Given the description of an element on the screen output the (x, y) to click on. 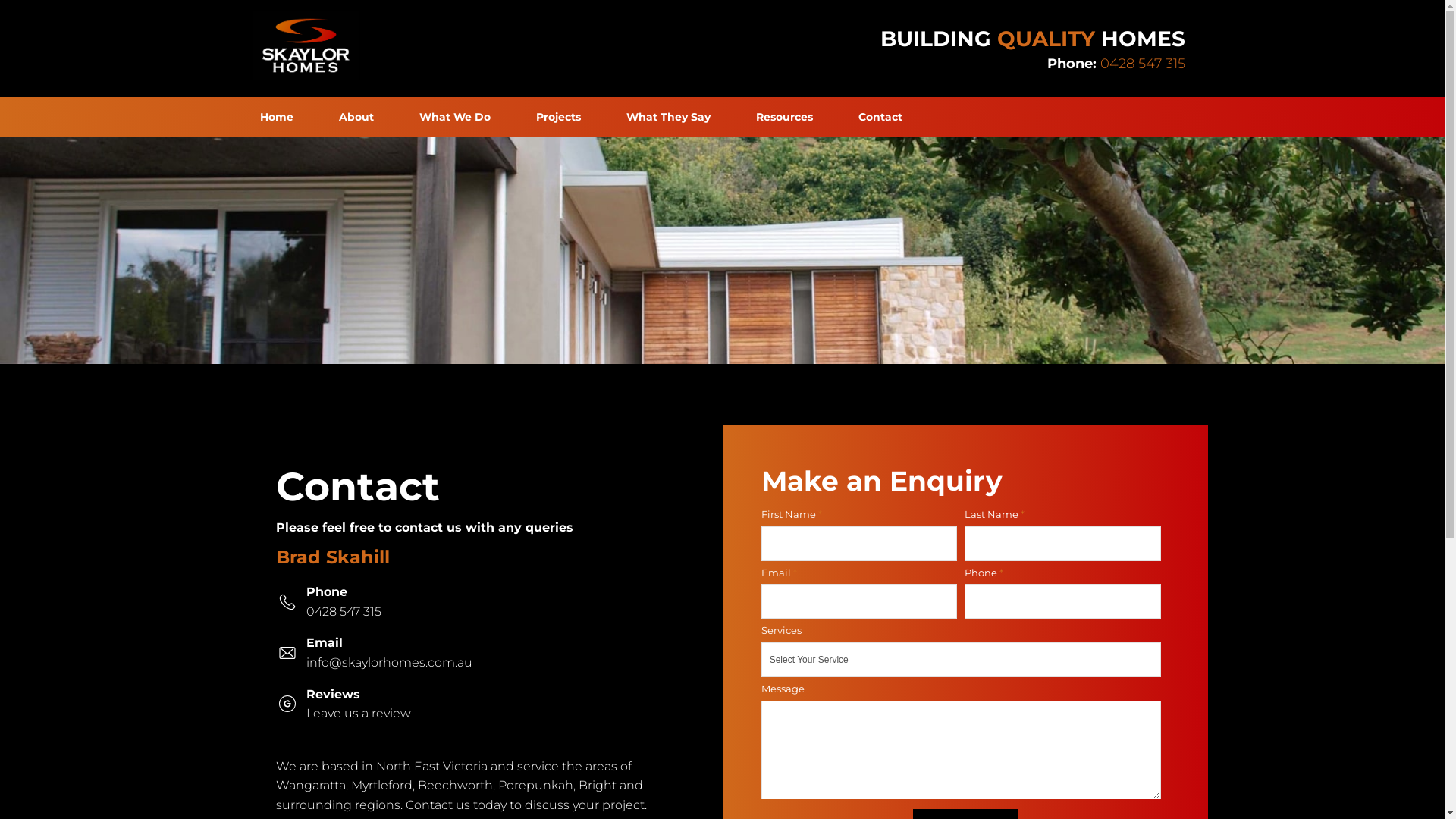
What We Do Element type: text (453, 116)
Message Element type: hover (961, 749)
Home Element type: text (275, 116)
First Name Element type: hover (859, 543)
0428 547 315 Element type: text (343, 611)
What They Say Element type: text (668, 116)
info@skaylorhomes.com.au Element type: text (389, 662)
Last Name Element type: hover (1062, 543)
0428 547 315 Element type: text (1141, 63)
About Element type: text (355, 116)
Projects Element type: text (557, 116)
Resources Element type: text (783, 116)
Phone Element type: hover (1062, 600)
Email Element type: hover (859, 600)
Contact Element type: text (880, 116)
Leave us a review Element type: text (358, 713)
Skaylor Homes Boutique Now Home Builders North East Victoria Element type: hover (304, 45)
